Given the description of an element on the screen output the (x, y) to click on. 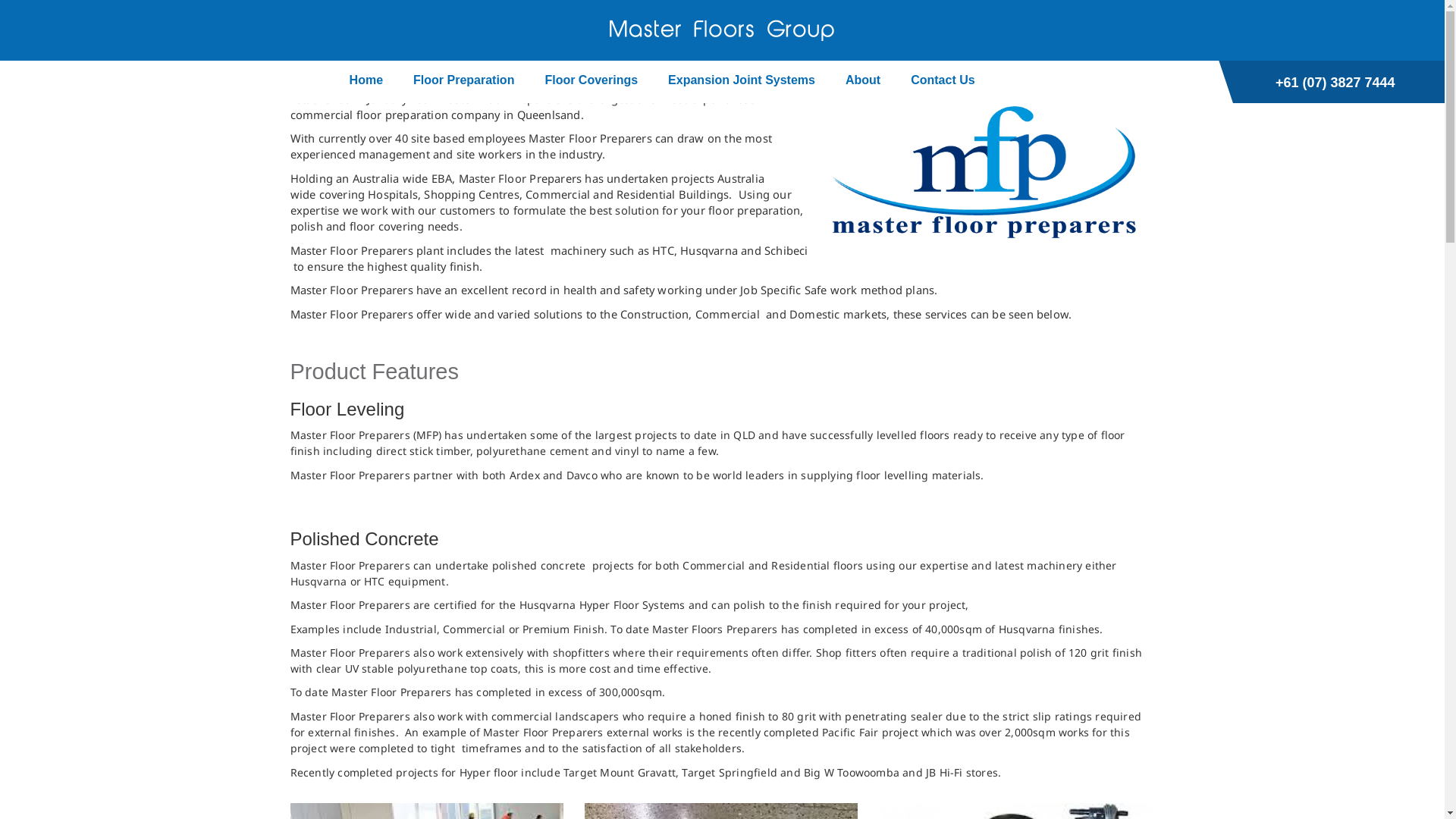
Contact Us Element type: text (942, 81)
Floor Preparation Element type: text (463, 81)
Floor Coverings Element type: text (590, 81)
Home Element type: text (365, 81)
About Element type: text (862, 81)
Expansion Joint Systems Element type: text (741, 81)
